Given the description of an element on the screen output the (x, y) to click on. 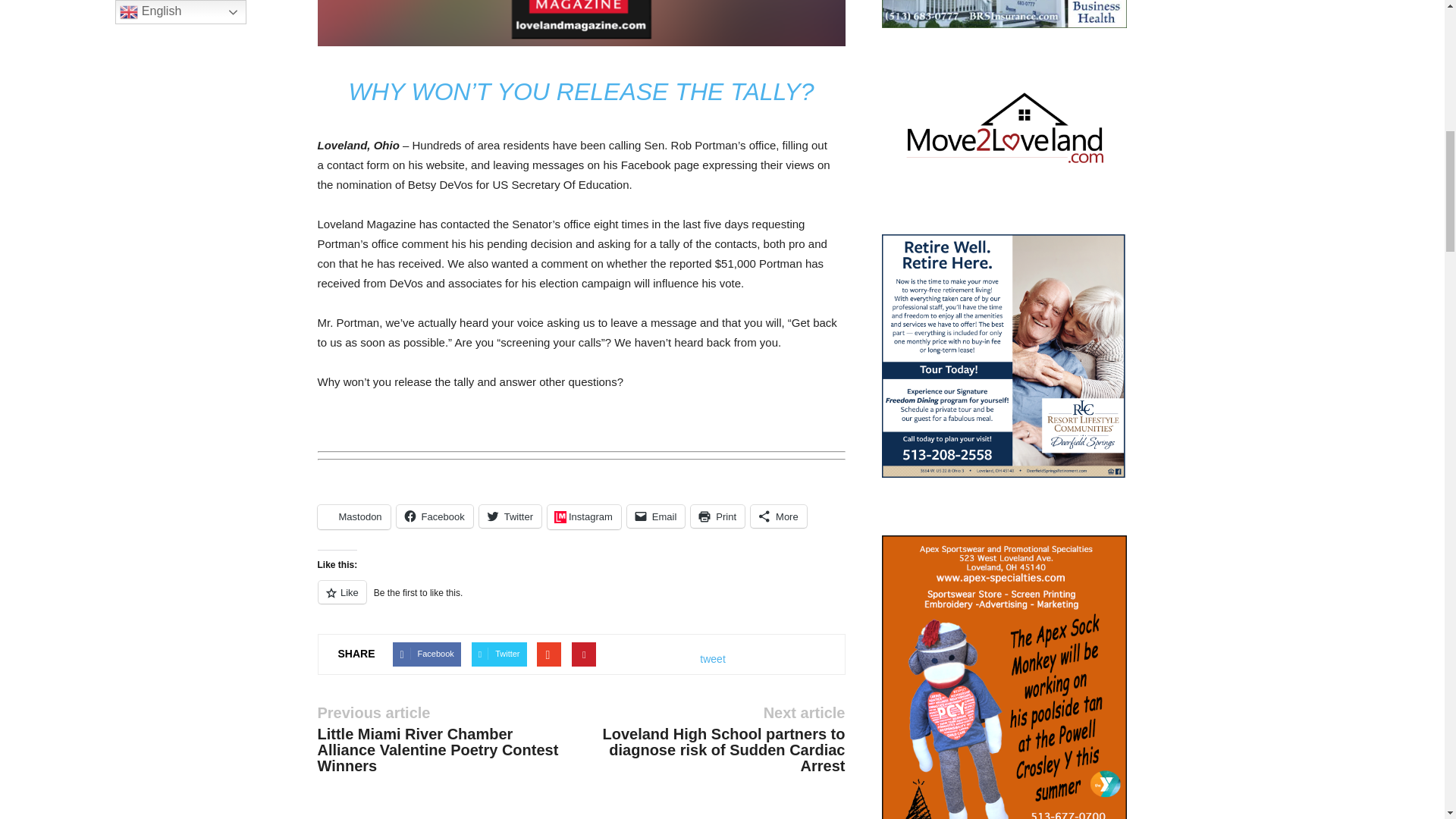
Click to share on Facebook (434, 516)
Click to share on Instagram (584, 517)
Click to share on Twitter (510, 516)
Click to share on Mastodon (353, 517)
editorial (580, 22)
